Given the description of an element on the screen output the (x, y) to click on. 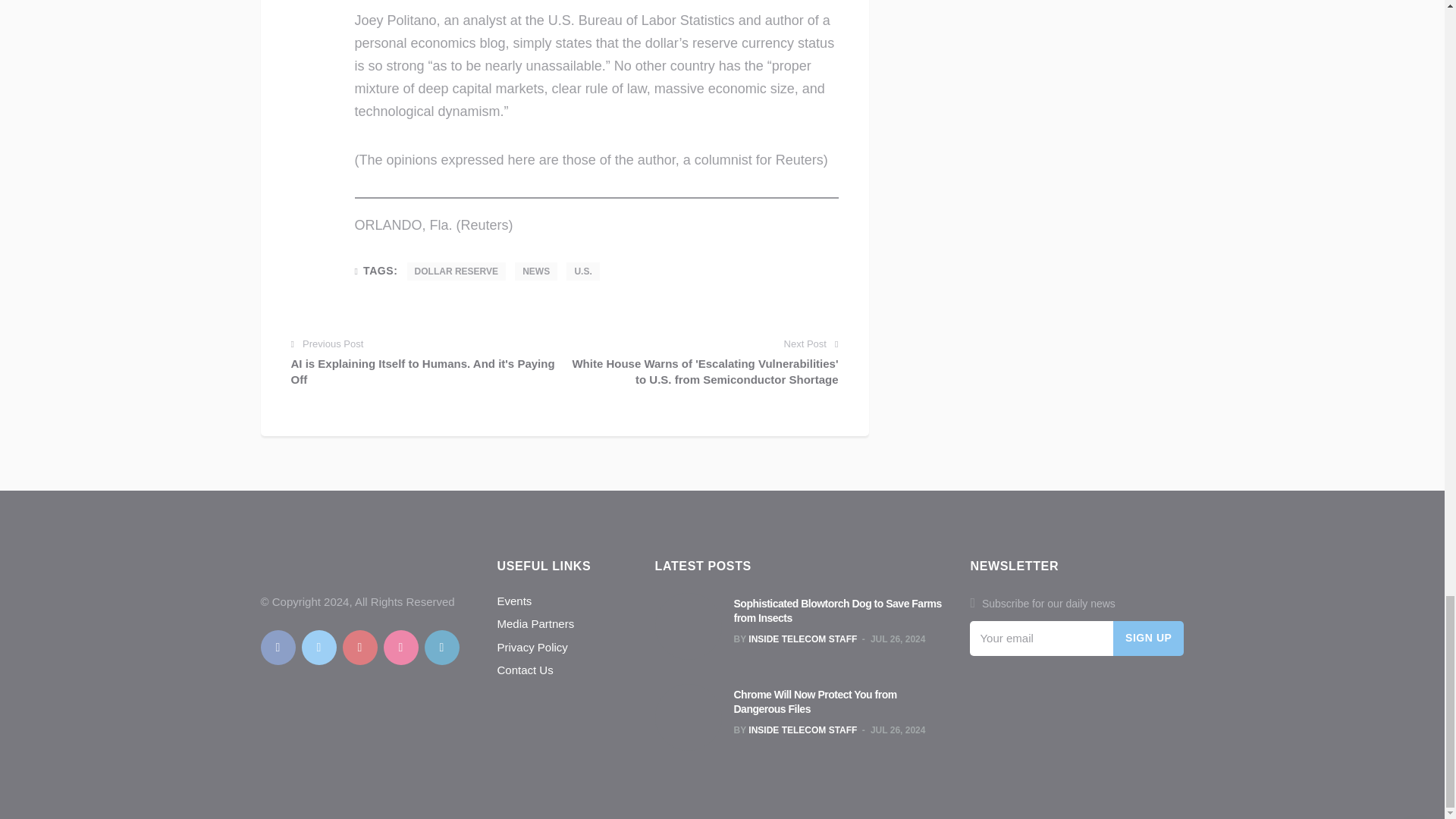
Sign Up (1149, 638)
